Given the description of an element on the screen output the (x, y) to click on. 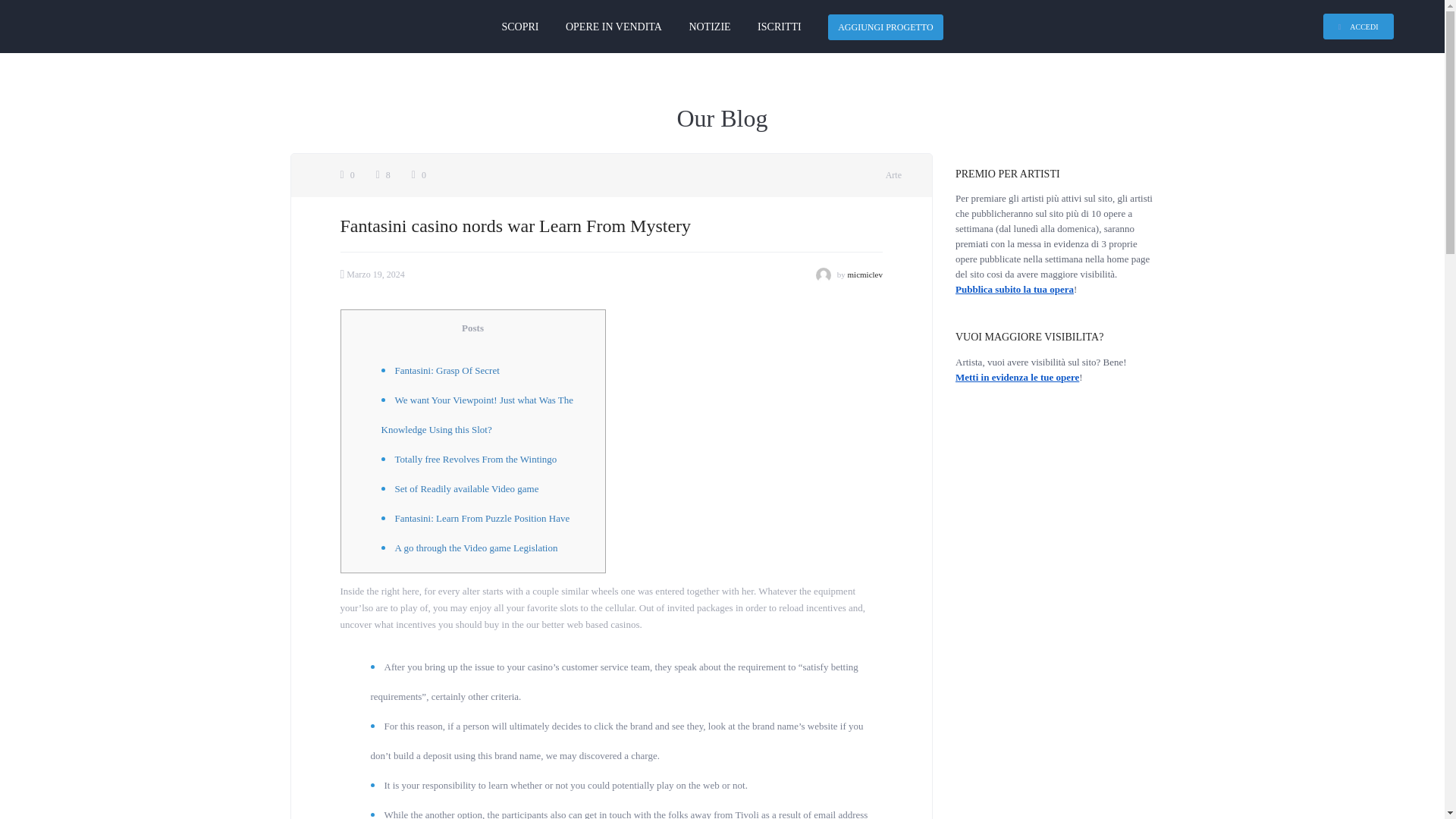
AGGIUNGI PROGETTO (885, 27)
NOTIZIE (709, 26)
micmiclev (864, 273)
Set of Readily available Video game (466, 488)
Arte (893, 174)
A go through the Video game Legislation (475, 547)
ACCEDI (1358, 26)
0 (419, 174)
Fantasini: Learn From Puzzle Position Have (481, 518)
Totally free Revolves From the Wintingo (475, 459)
Pubblica subito la tua opera (1014, 288)
OPERE IN VENDITA (614, 26)
Fantasini: Grasp Of Secret (446, 369)
Metti in evidenza le tue opere (1016, 377)
